Given the description of an element on the screen output the (x, y) to click on. 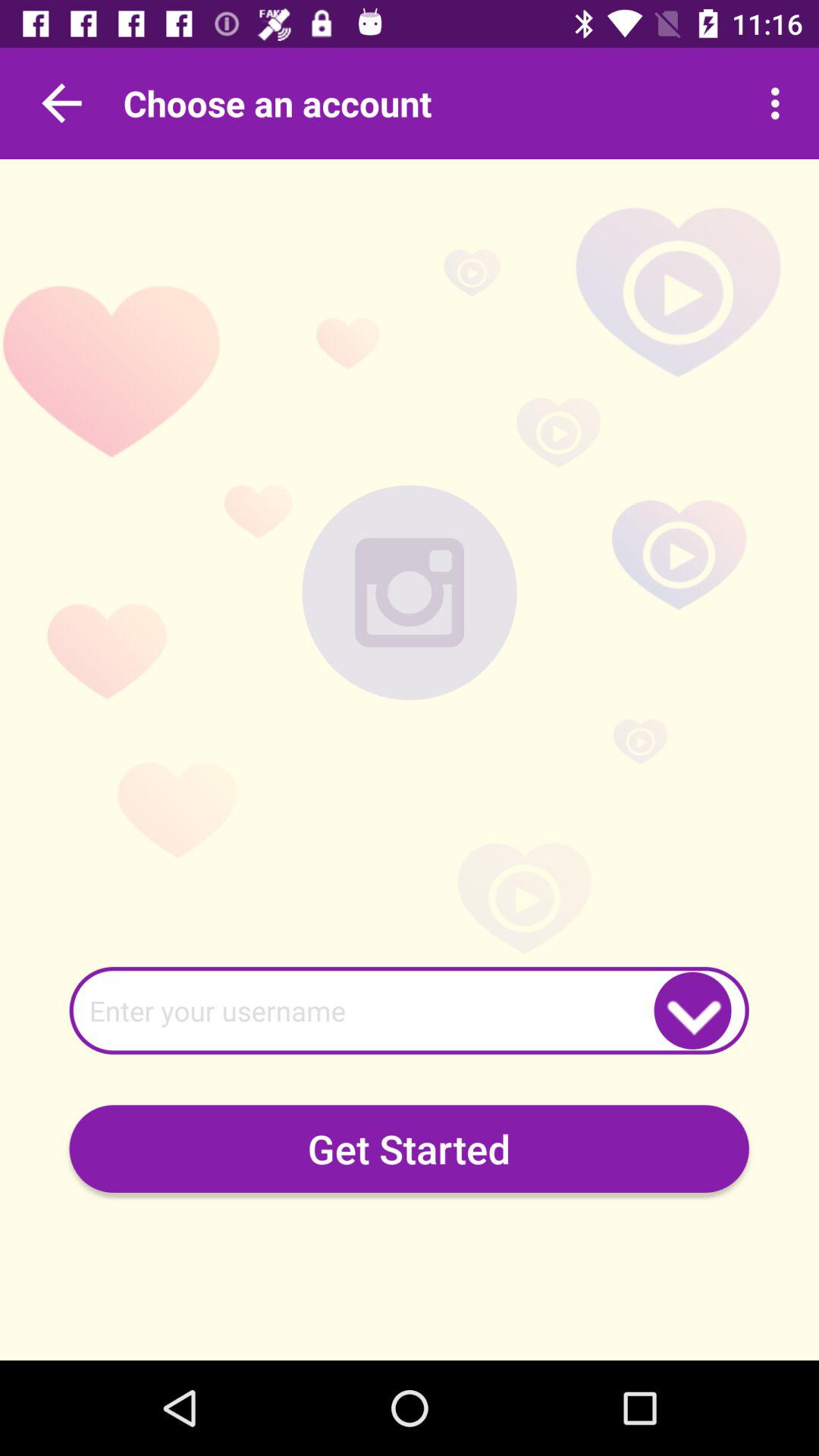
go back (61, 103)
